Given the description of an element on the screen output the (x, y) to click on. 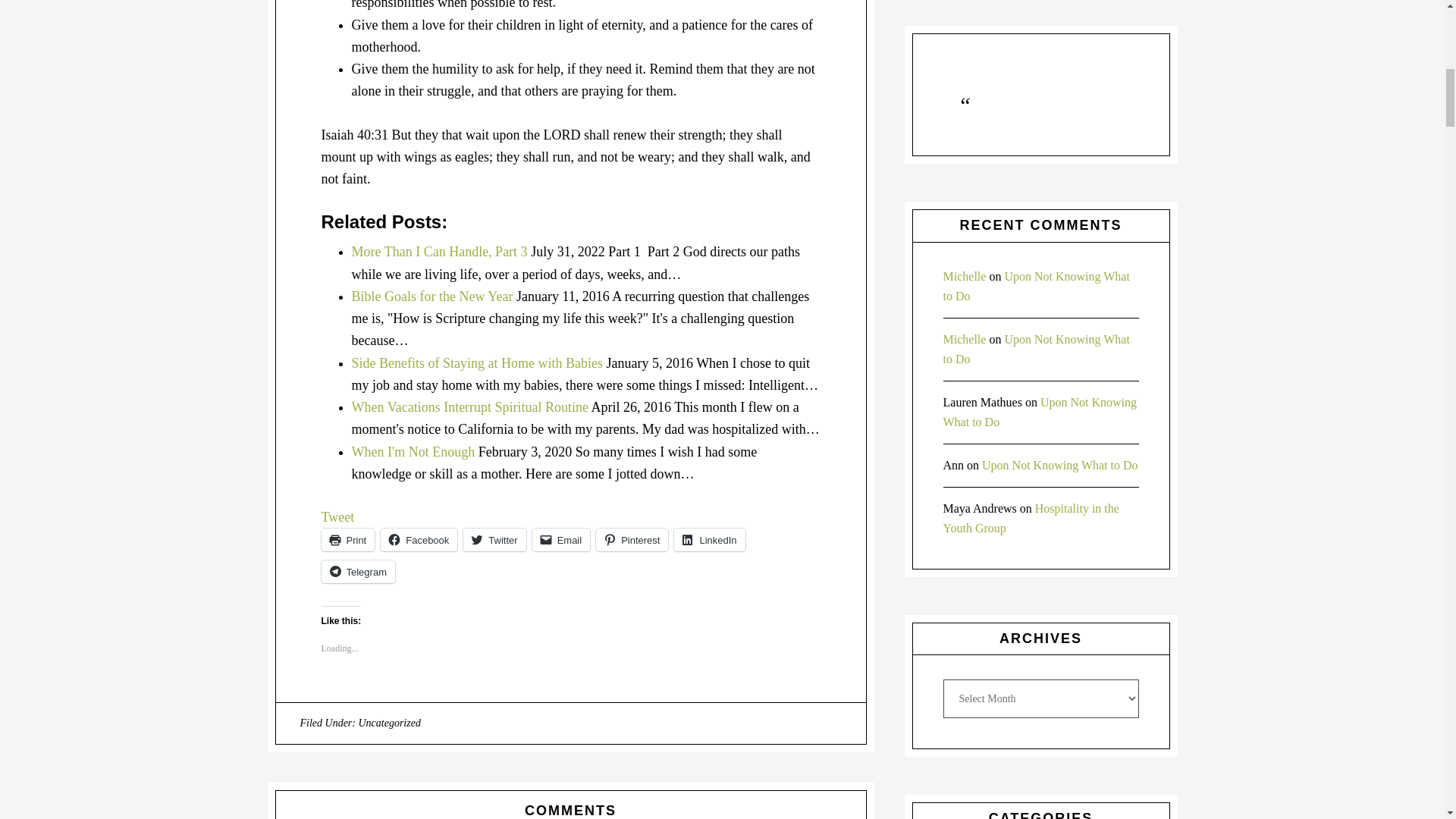
When Vacations Interrupt Spiritual Routine (470, 406)
More Than I Can Handle, Part 3 (439, 251)
When I'm Not Enough (414, 451)
Click to share on LinkedIn (709, 539)
Upon Not Knowing What to Do (1040, 411)
Email (561, 539)
Twitter (494, 539)
Pinterest (631, 539)
Tweet (338, 516)
Print (348, 539)
Telegram (357, 571)
Upon Not Knowing What to Do (1036, 348)
Click to share on Twitter (494, 539)
Bible Goals for the New Year (432, 296)
Facebook (418, 539)
